Given the description of an element on the screen output the (x, y) to click on. 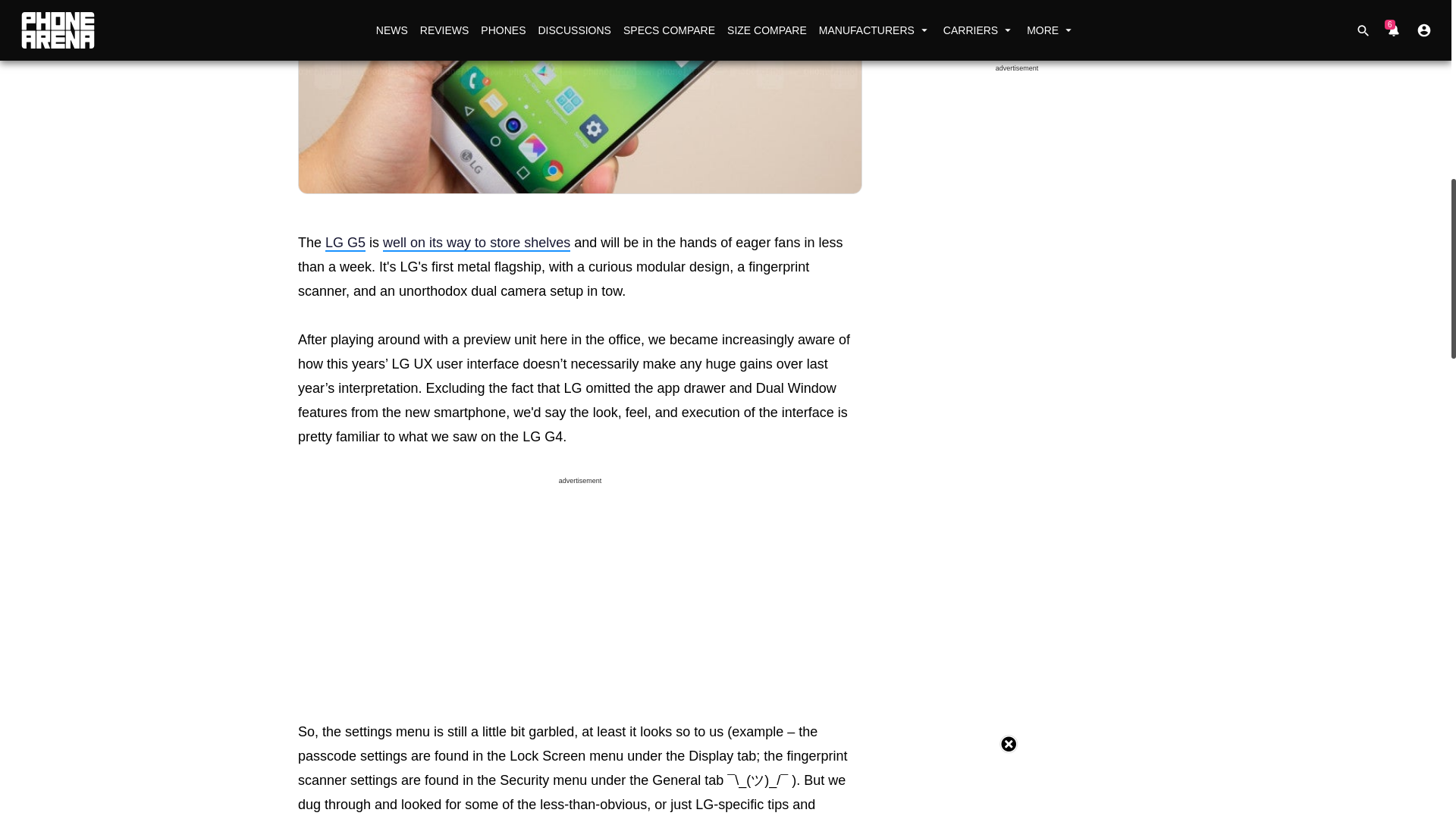
3rd party ad content (580, 526)
LG G5 (344, 243)
3rd party ad content (1016, 92)
